Given the description of an element on the screen output the (x, y) to click on. 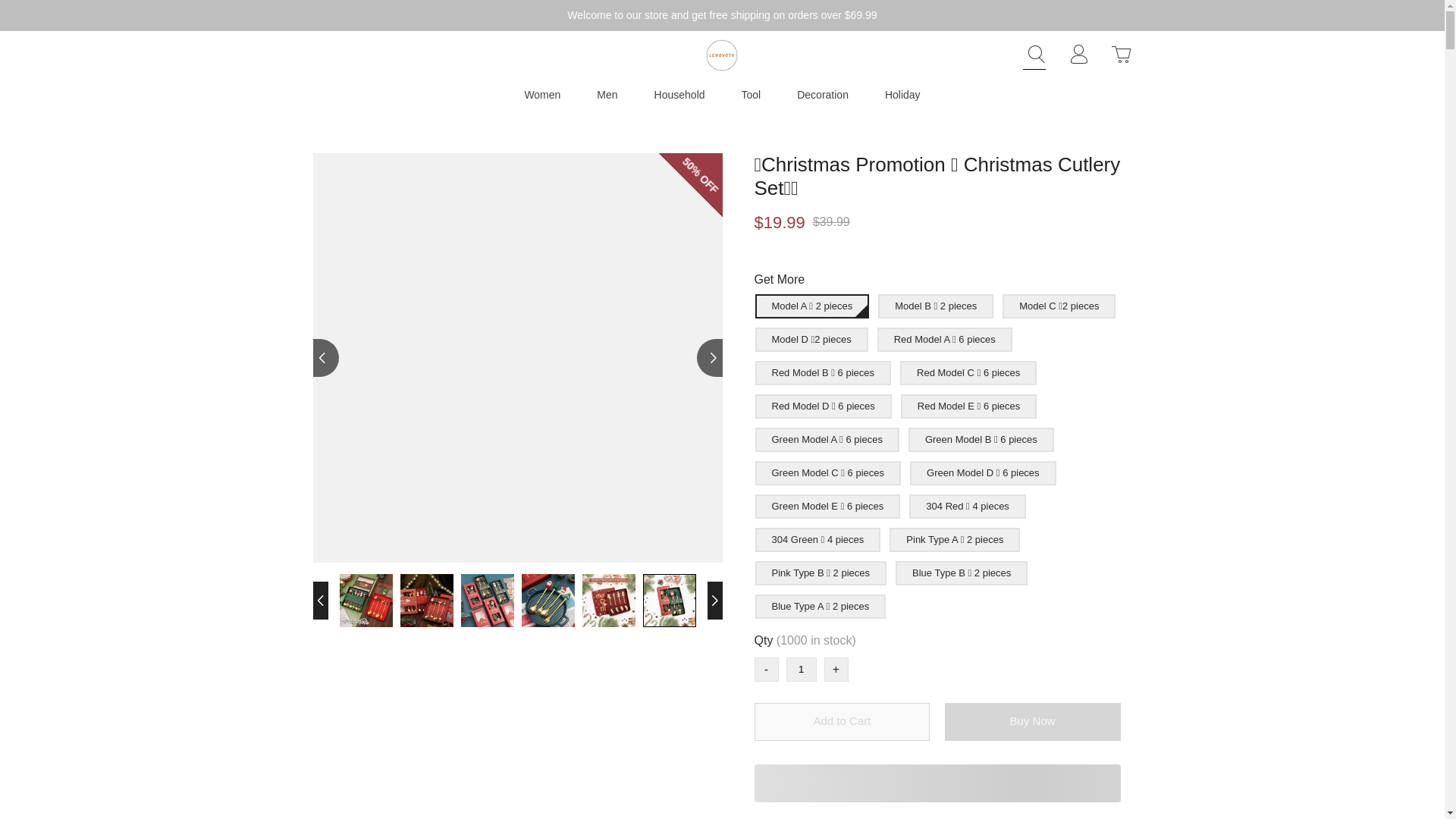
Holiday (902, 94)
Add to Cart (842, 721)
Men (606, 94)
Women (542, 94)
Buy Now (1032, 721)
1 (800, 669)
Decoration (822, 94)
Household (678, 94)
- (765, 669)
Tool (751, 94)
